Given the description of an element on the screen output the (x, y) to click on. 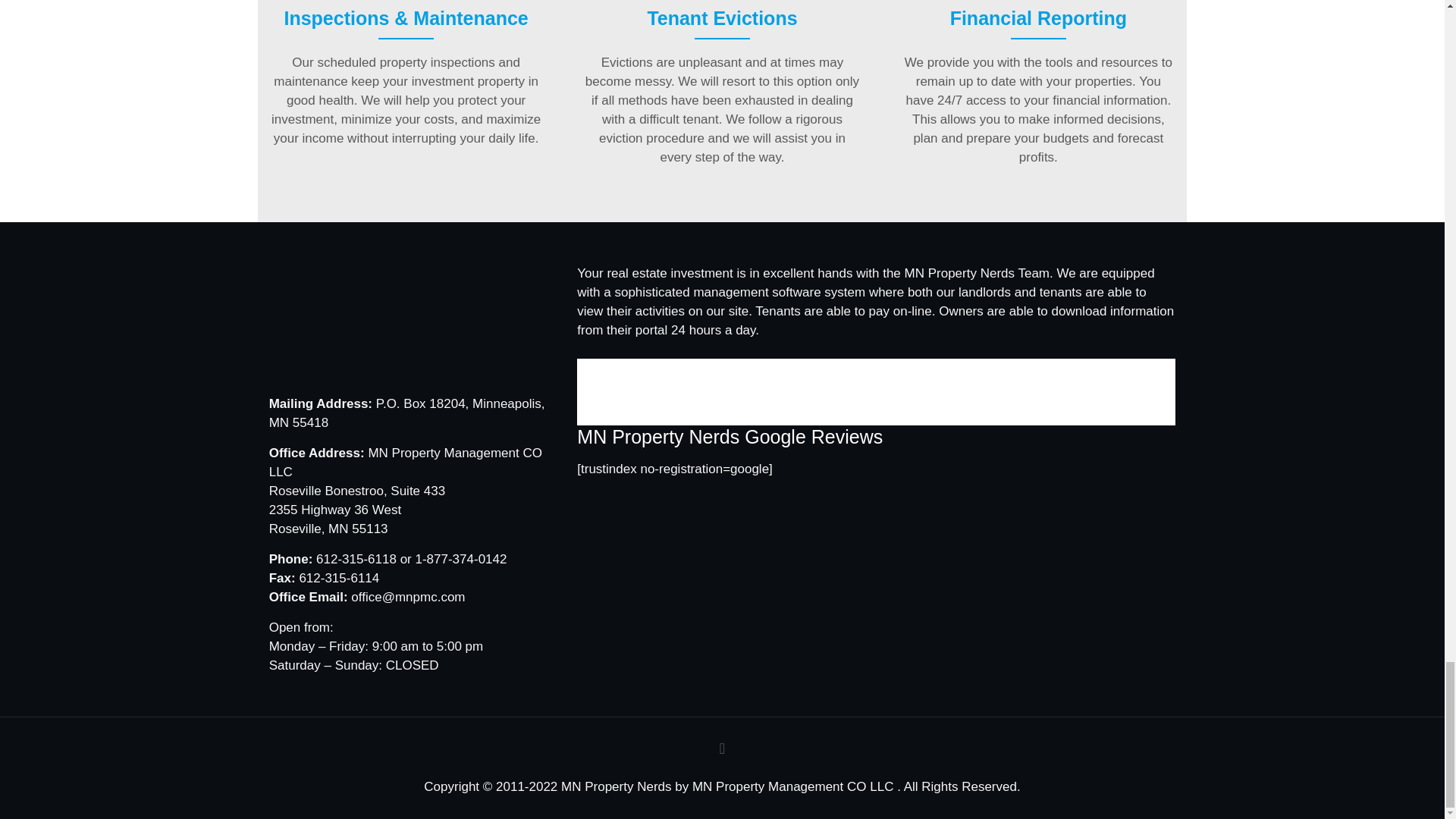
612-315-6118 (355, 559)
1-877-374-0142 (460, 559)
